Given the description of an element on the screen output the (x, y) to click on. 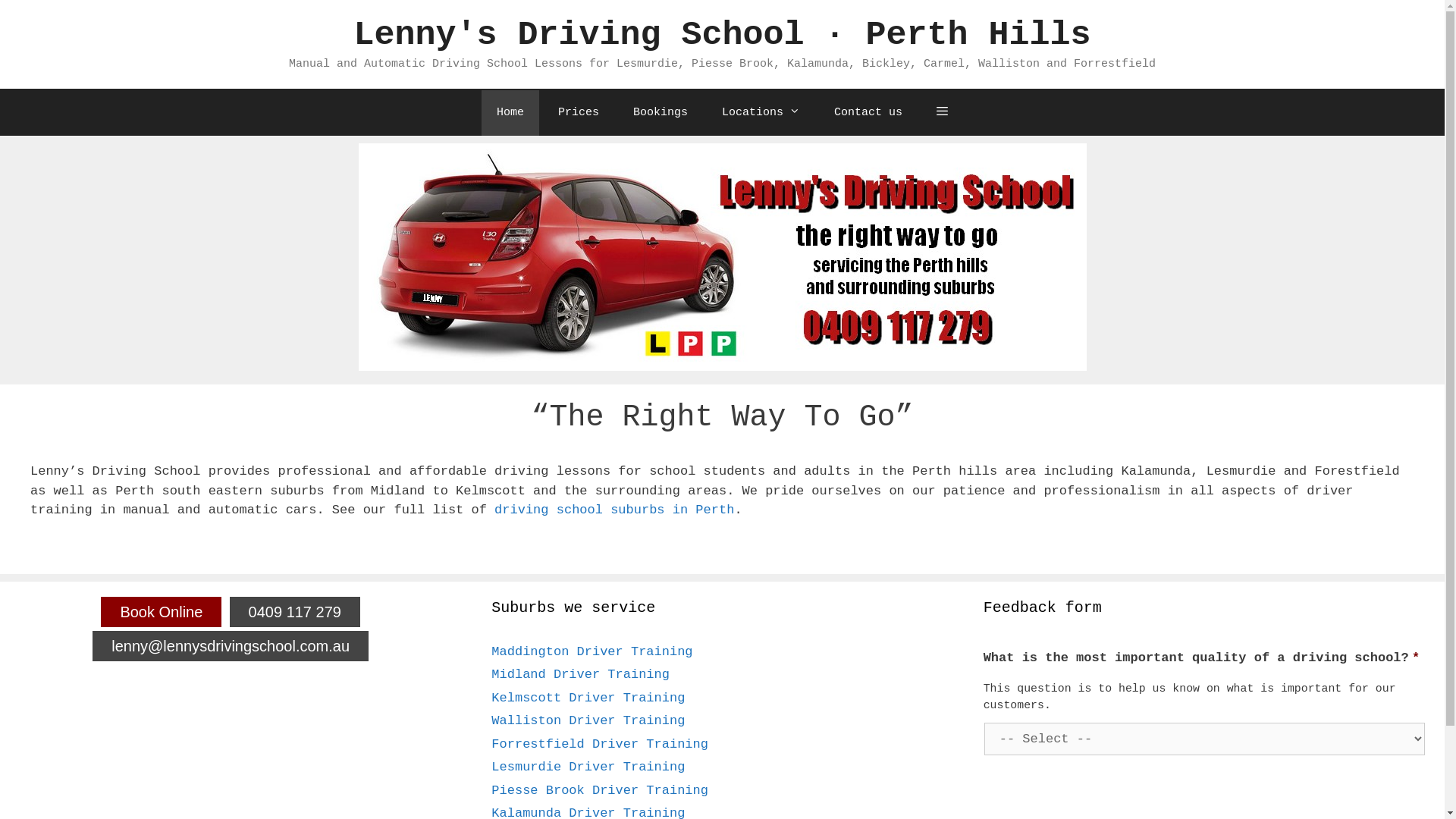
Home Element type: text (510, 111)
Lesmurdie Driver Training Element type: text (587, 766)
Submit Element type: text (39, 18)
0409 117 279 Element type: text (294, 611)
Locations Element type: text (760, 111)
Prices Element type: text (578, 111)
Forrestfield Driver Training Element type: text (599, 744)
Bookings Element type: text (660, 111)
driving school suburbs in Perth Element type: text (614, 509)
Maddington Driver Training Element type: text (591, 651)
Walliston Driver Training Element type: text (587, 720)
Kelmscott Driver Training Element type: text (587, 697)
Piesse Brook Driver Training Element type: text (599, 789)
lenny@lennysdrivingschool.com.au Element type: text (230, 645)
Book Online Element type: text (160, 611)
Midland Driver Training Element type: text (580, 674)
Contact us Element type: text (868, 111)
